Given the description of an element on the screen output the (x, y) to click on. 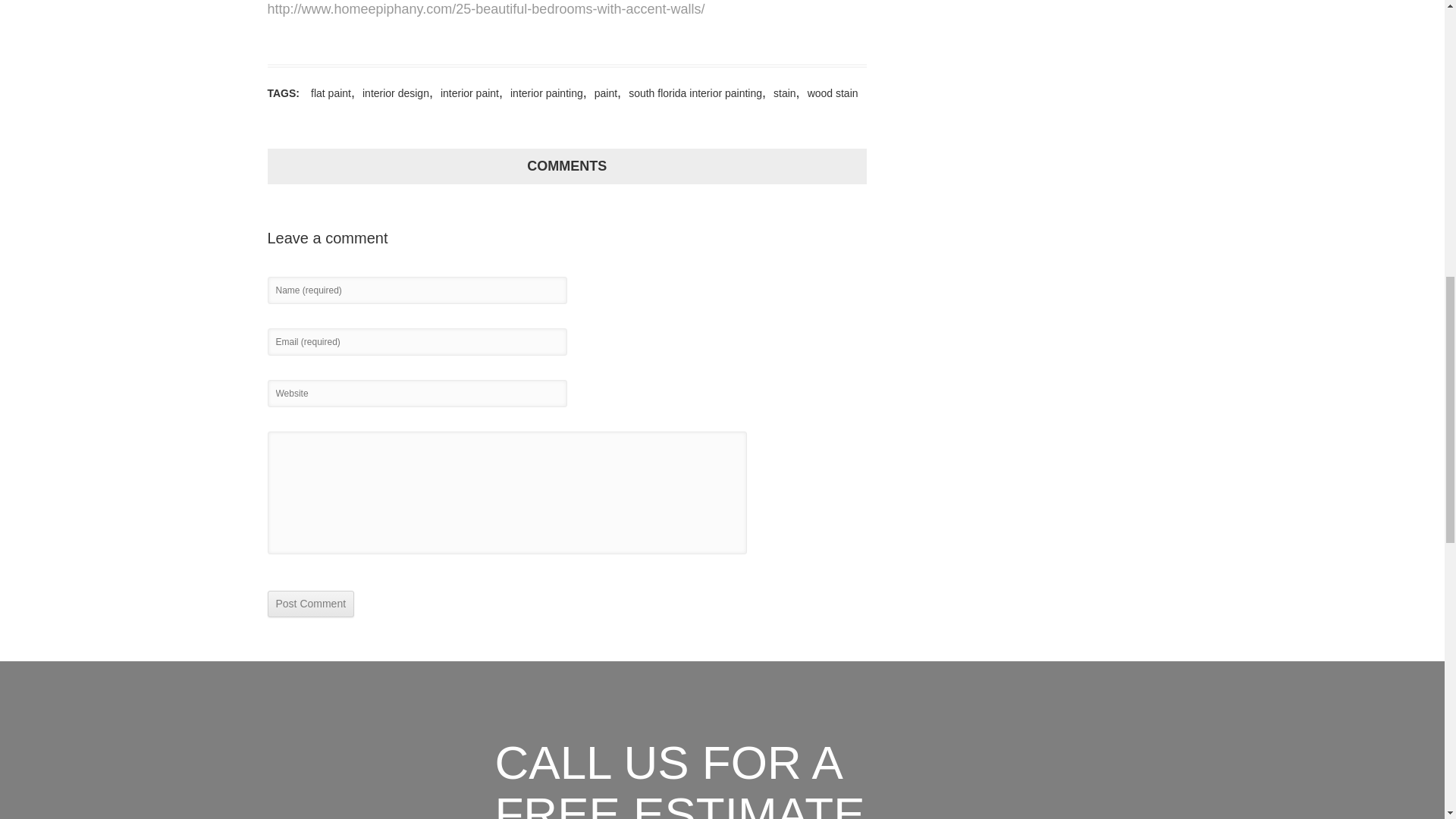
flat paint (326, 92)
Post Comment (309, 603)
south florida interior painting (691, 92)
interior paint (465, 92)
Post Comment (309, 603)
interior design (392, 92)
wood stain (829, 92)
paint (601, 92)
interior painting (542, 92)
stain (780, 92)
